Given the description of an element on the screen output the (x, y) to click on. 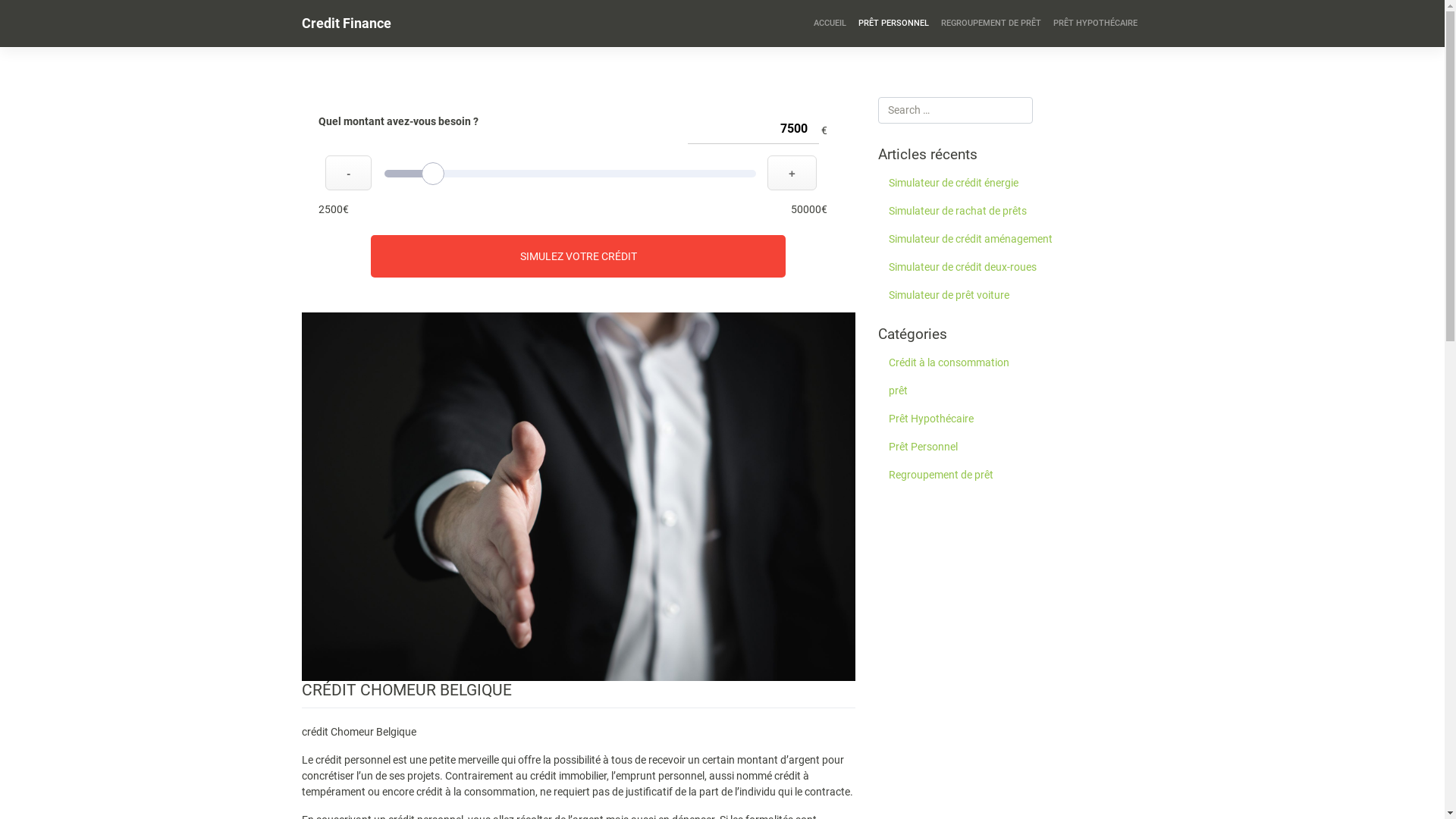
Search for: Element type: hover (955, 110)
+ Element type: text (791, 172)
Credit Finance Element type: text (346, 23)
- Element type: text (348, 172)
Search Element type: text (25, 13)
ACCUEIL Element type: text (828, 23)
